Given the description of an element on the screen output the (x, y) to click on. 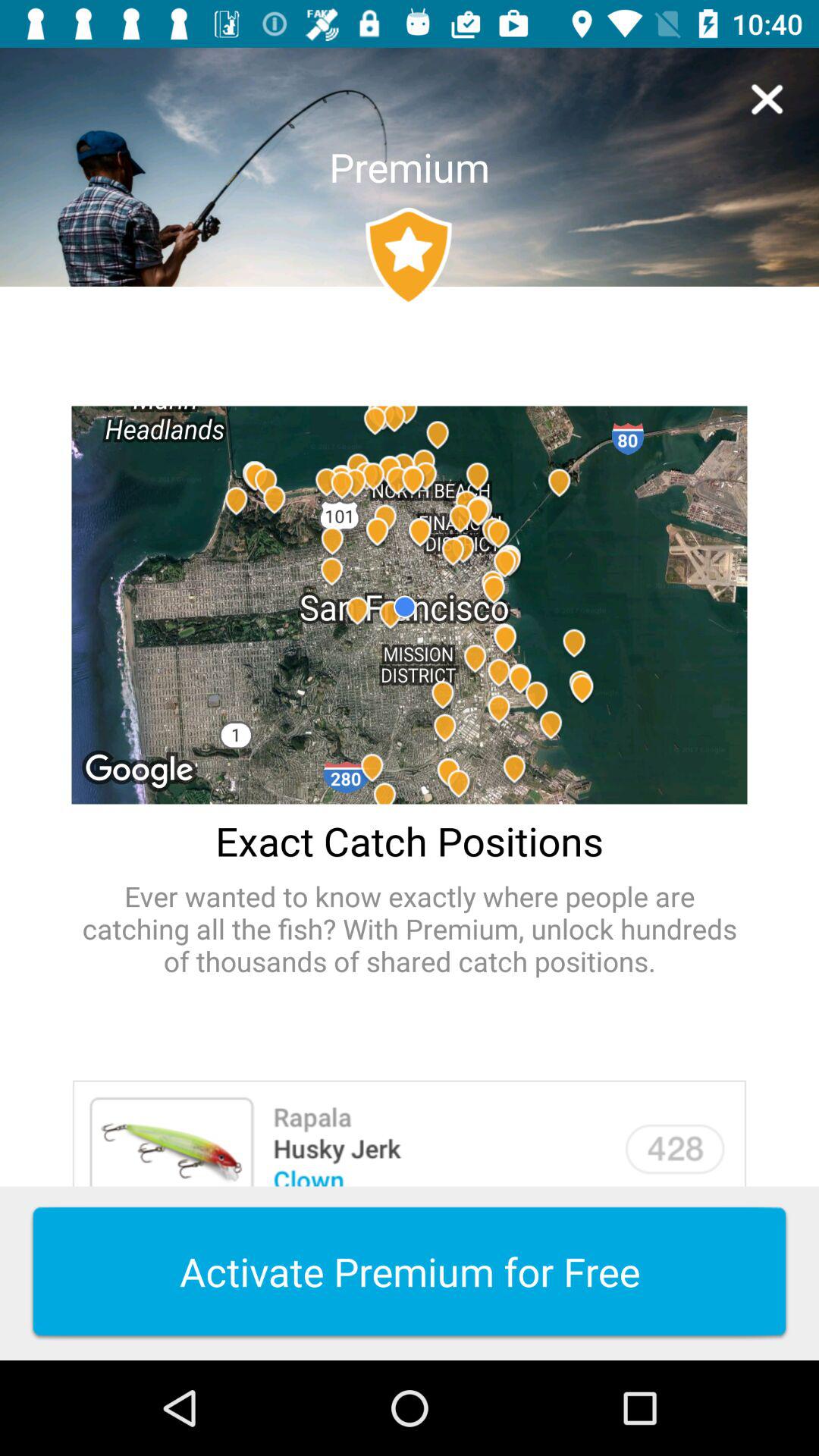
press the item next to the premium (767, 99)
